Given the description of an element on the screen output the (x, y) to click on. 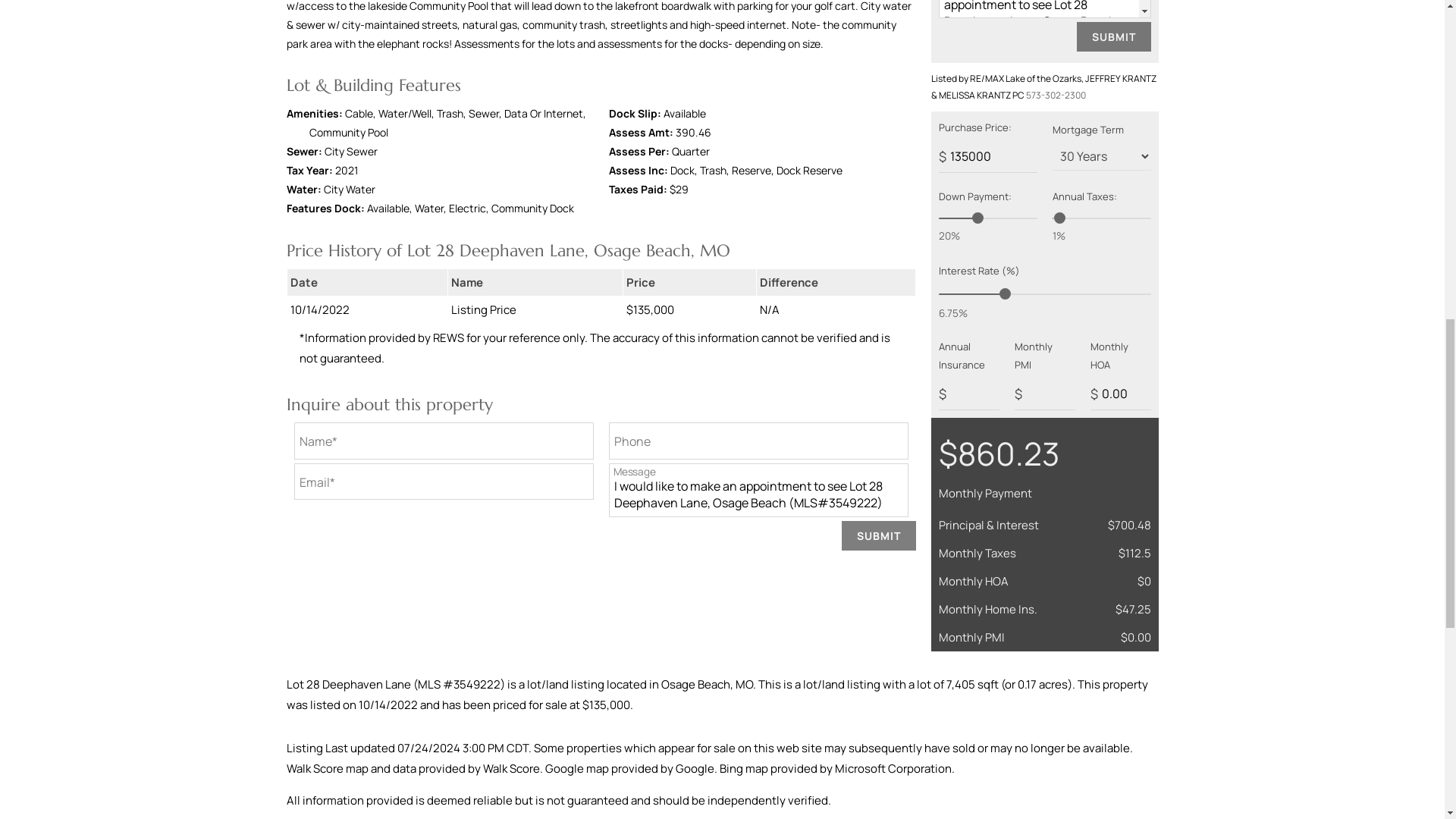
20 (987, 218)
135000 (987, 156)
1 (1101, 218)
0.00 (1120, 393)
